Given the description of an element on the screen output the (x, y) to click on. 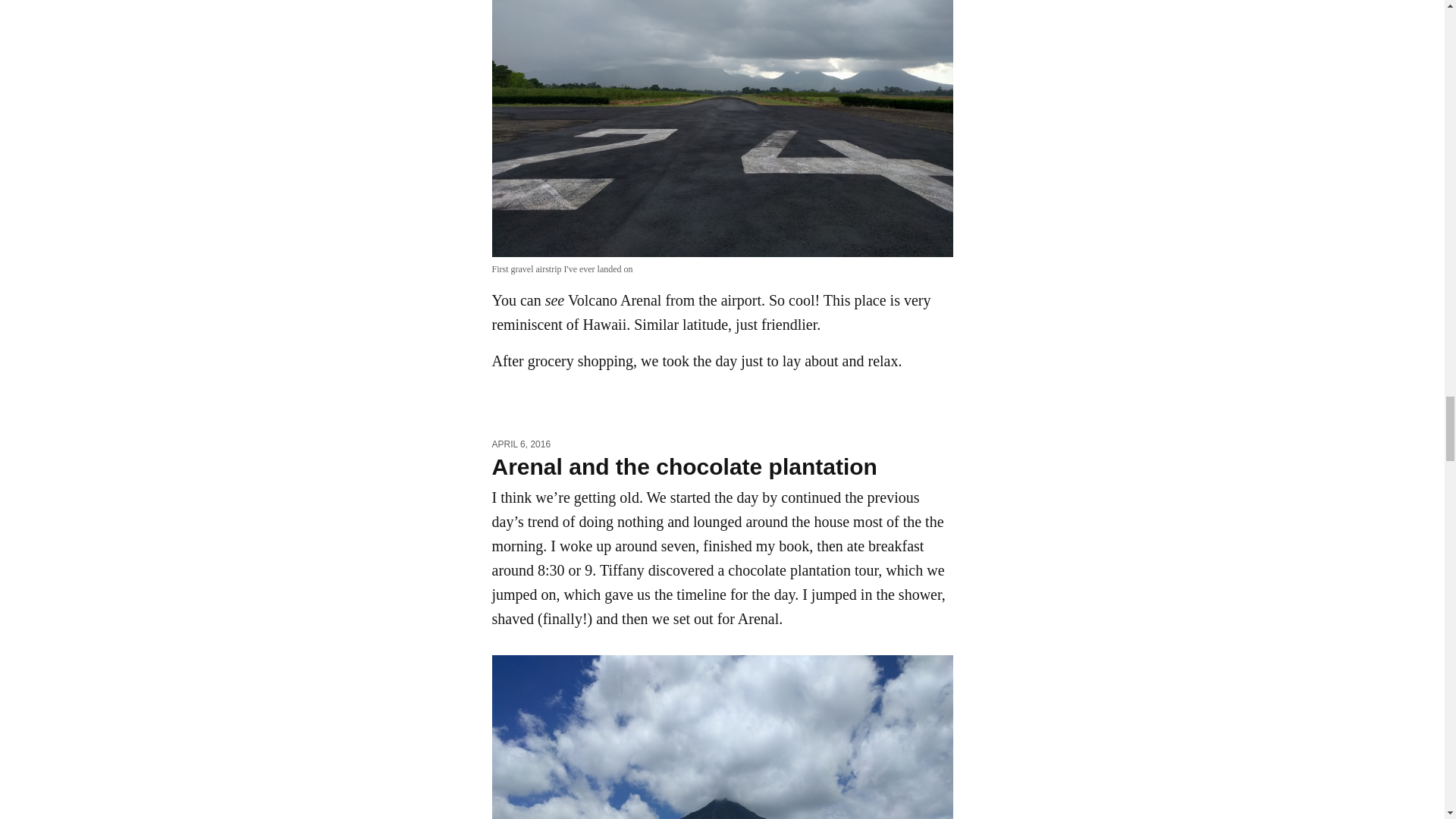
Arenal and the chocolate plantation (684, 466)
